Given the description of an element on the screen output the (x, y) to click on. 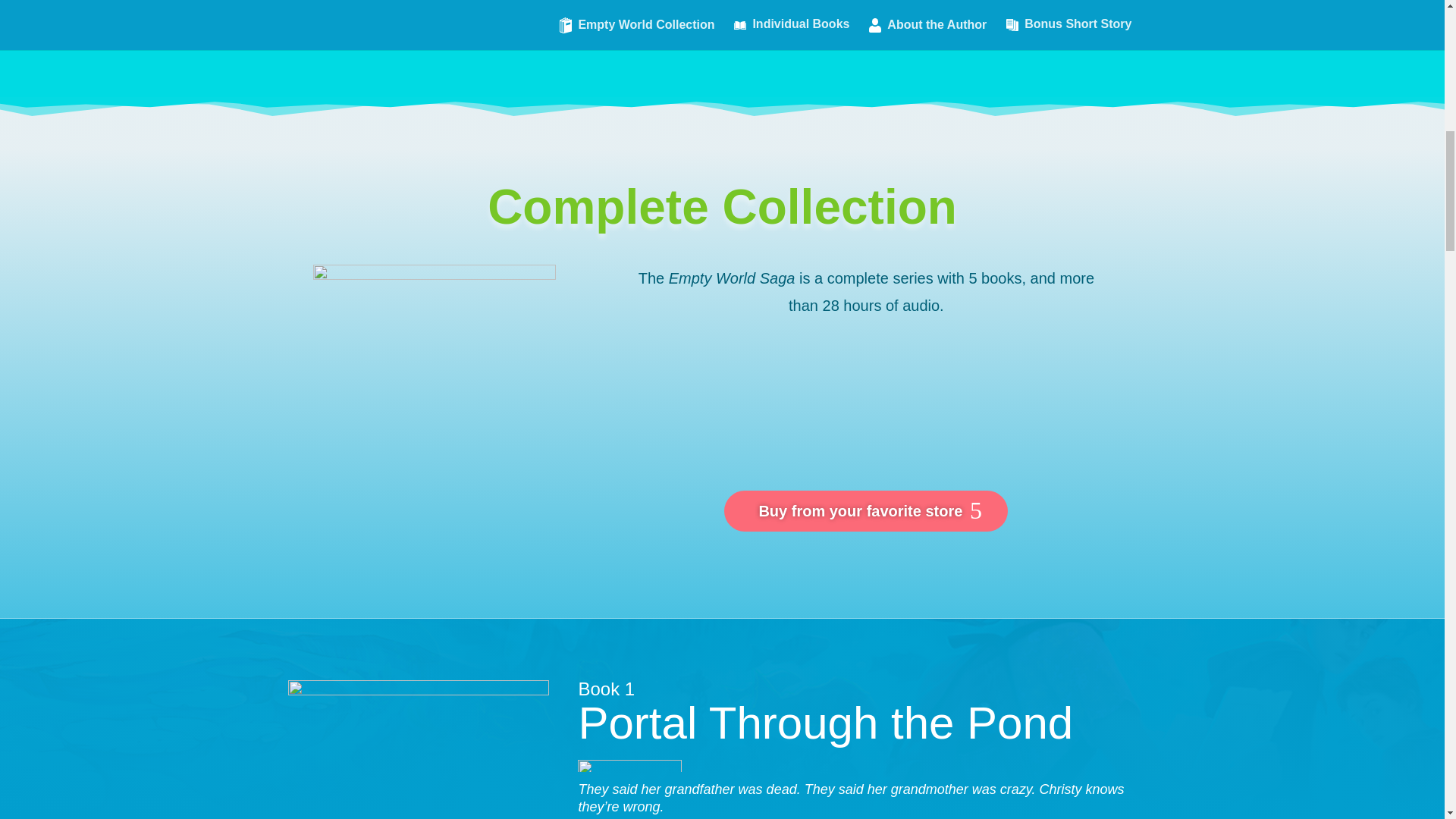
Buy from your favorite store (865, 510)
Full-Collection (433, 384)
Untitled-2-2 (629, 766)
